Given the description of an element on the screen output the (x, y) to click on. 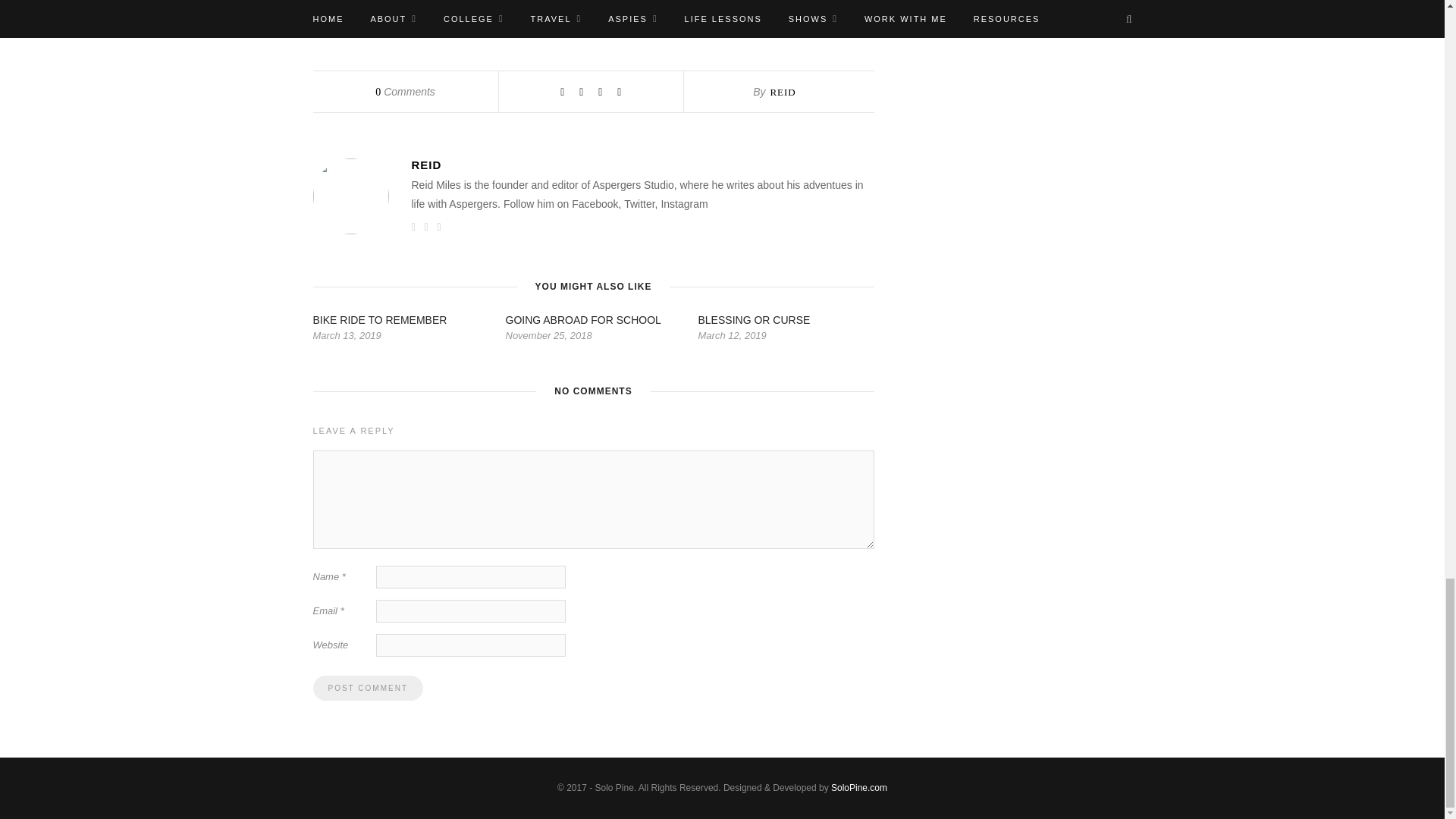
Post Comment (367, 688)
Posts by Reid (641, 164)
Posts by Reid (782, 91)
